Given the description of an element on the screen output the (x, y) to click on. 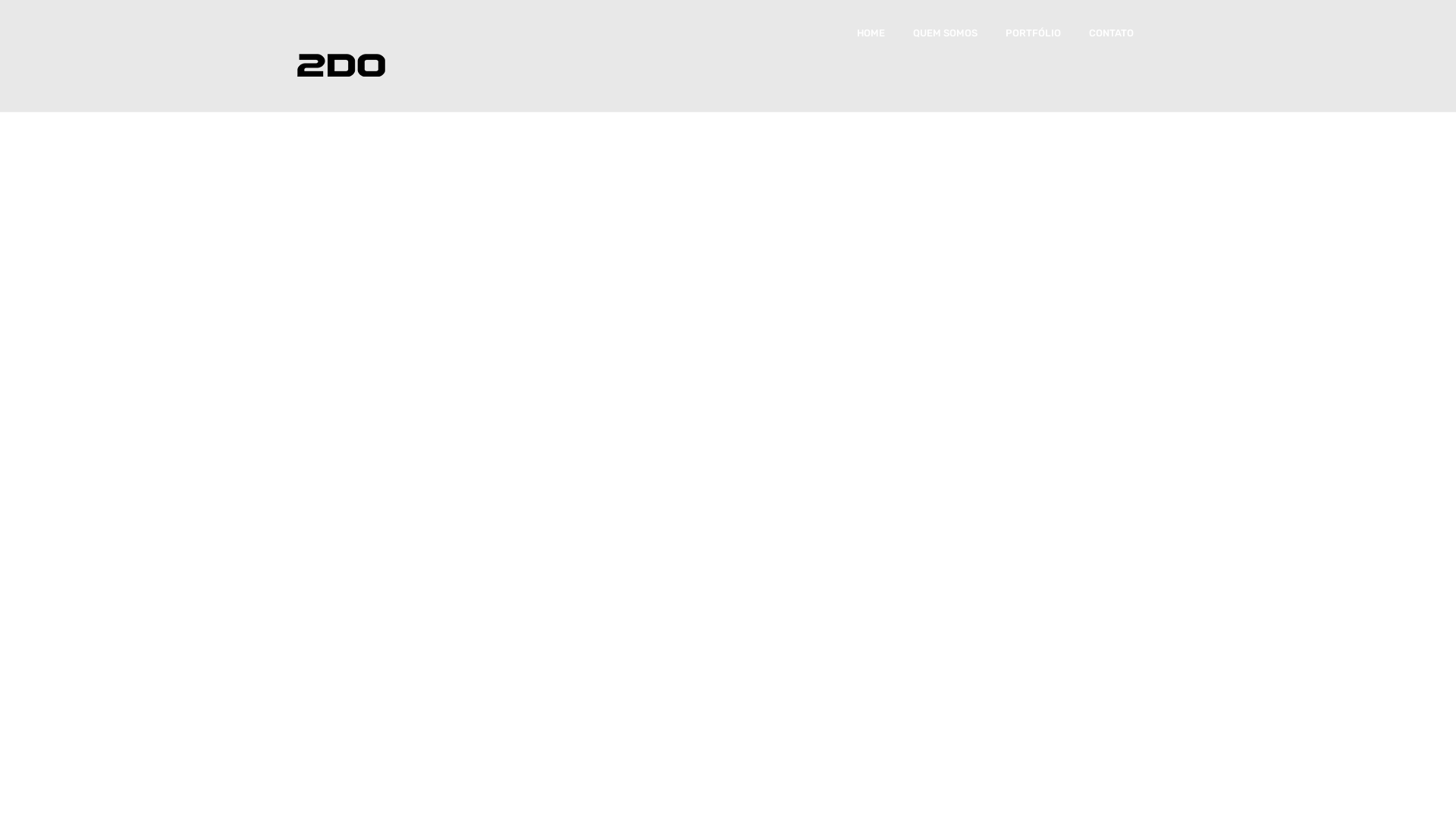
QUEM SOMOS Element type: text (945, 32)
HOME Element type: text (870, 32)
CONTATO Element type: text (1110, 32)
